Given the description of an element on the screen output the (x, y) to click on. 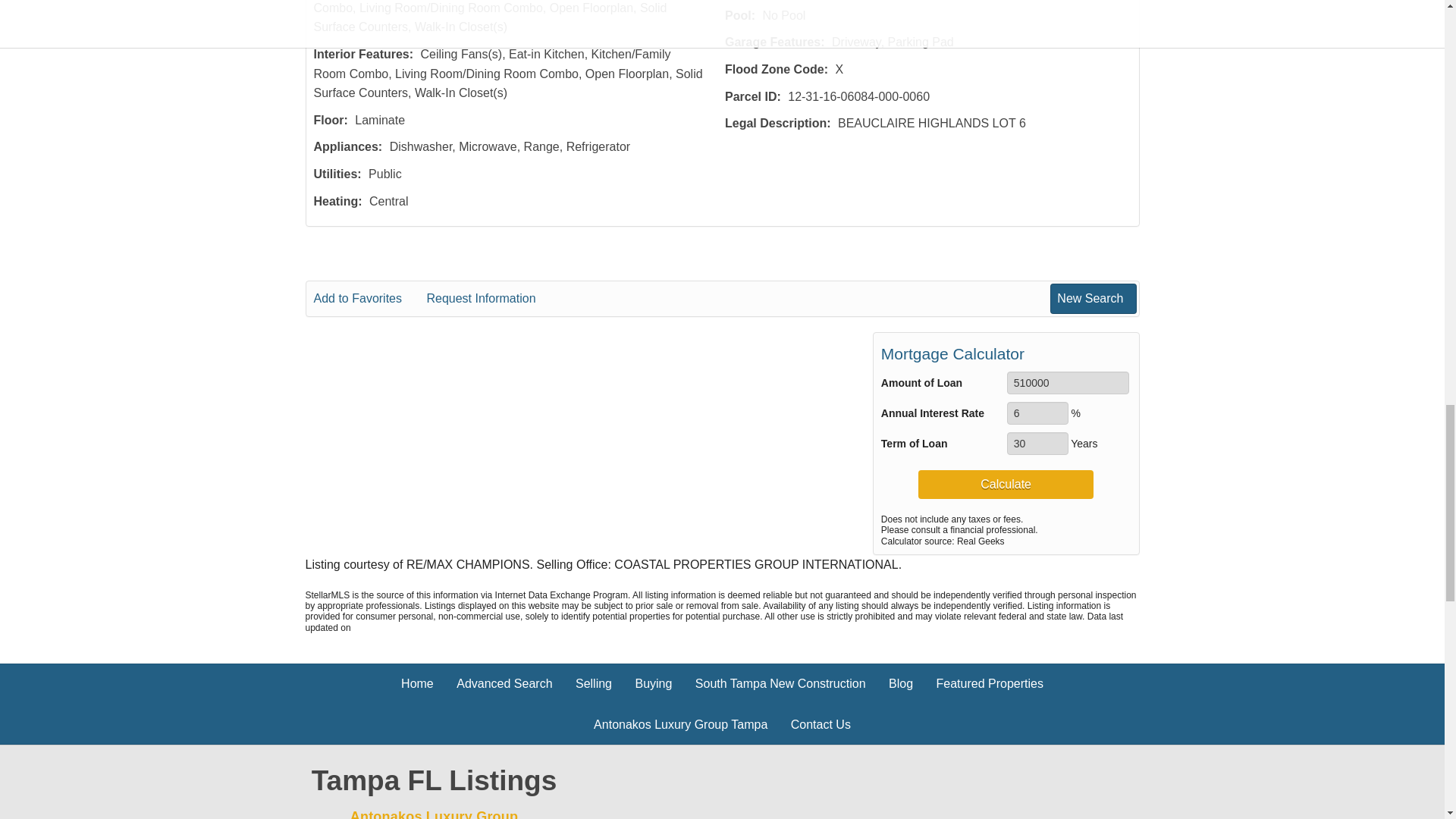
510000 (1068, 382)
6 (1037, 413)
30 (1037, 443)
